Given the description of an element on the screen output the (x, y) to click on. 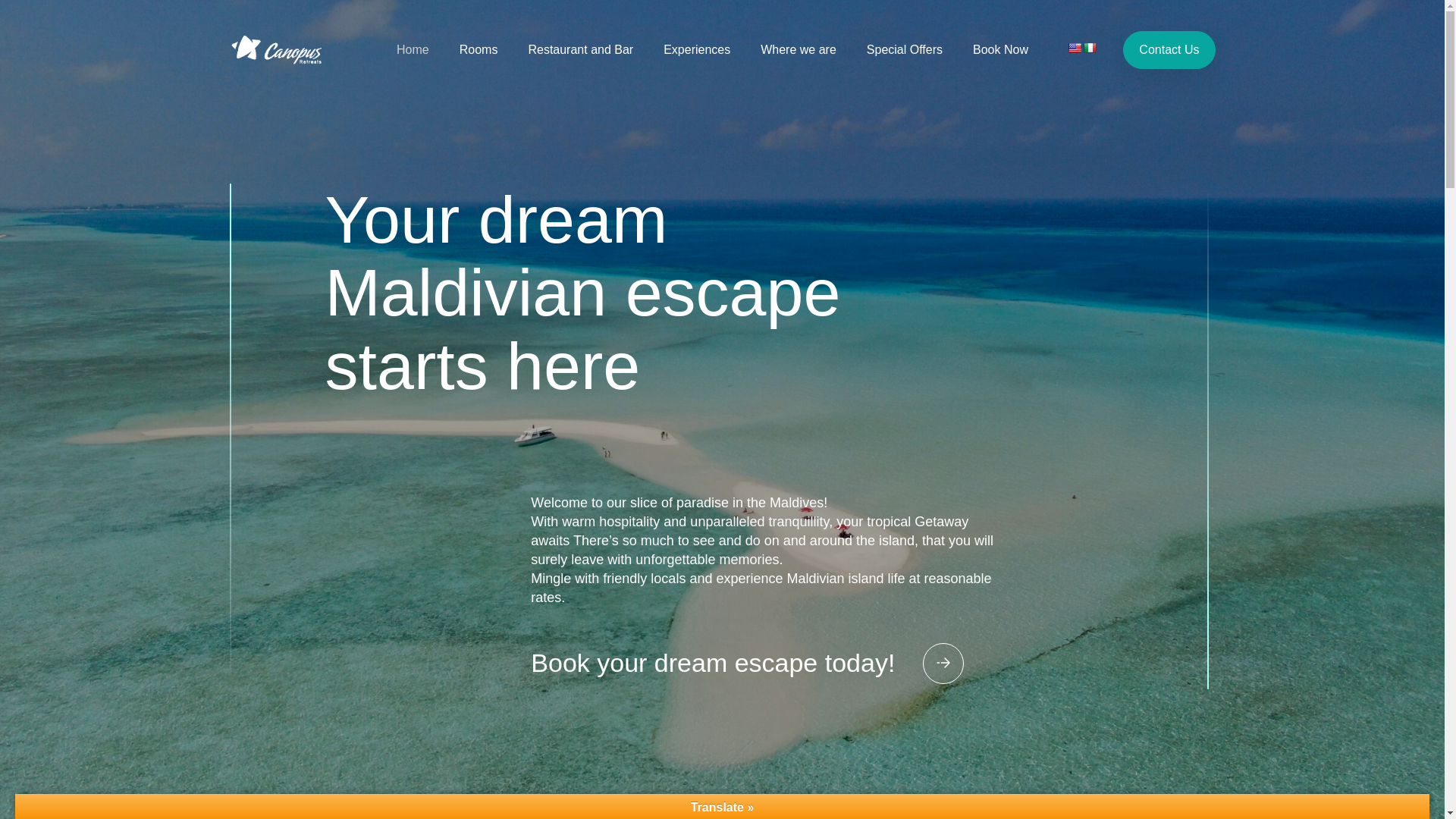
Home (412, 49)
Italian (1089, 47)
Experiences (696, 49)
Page 1 (770, 550)
Where we are (797, 49)
English (1074, 47)
Rooms (478, 49)
Restaurant and Bar (580, 49)
Special Offers (904, 49)
